Given the description of an element on the screen output the (x, y) to click on. 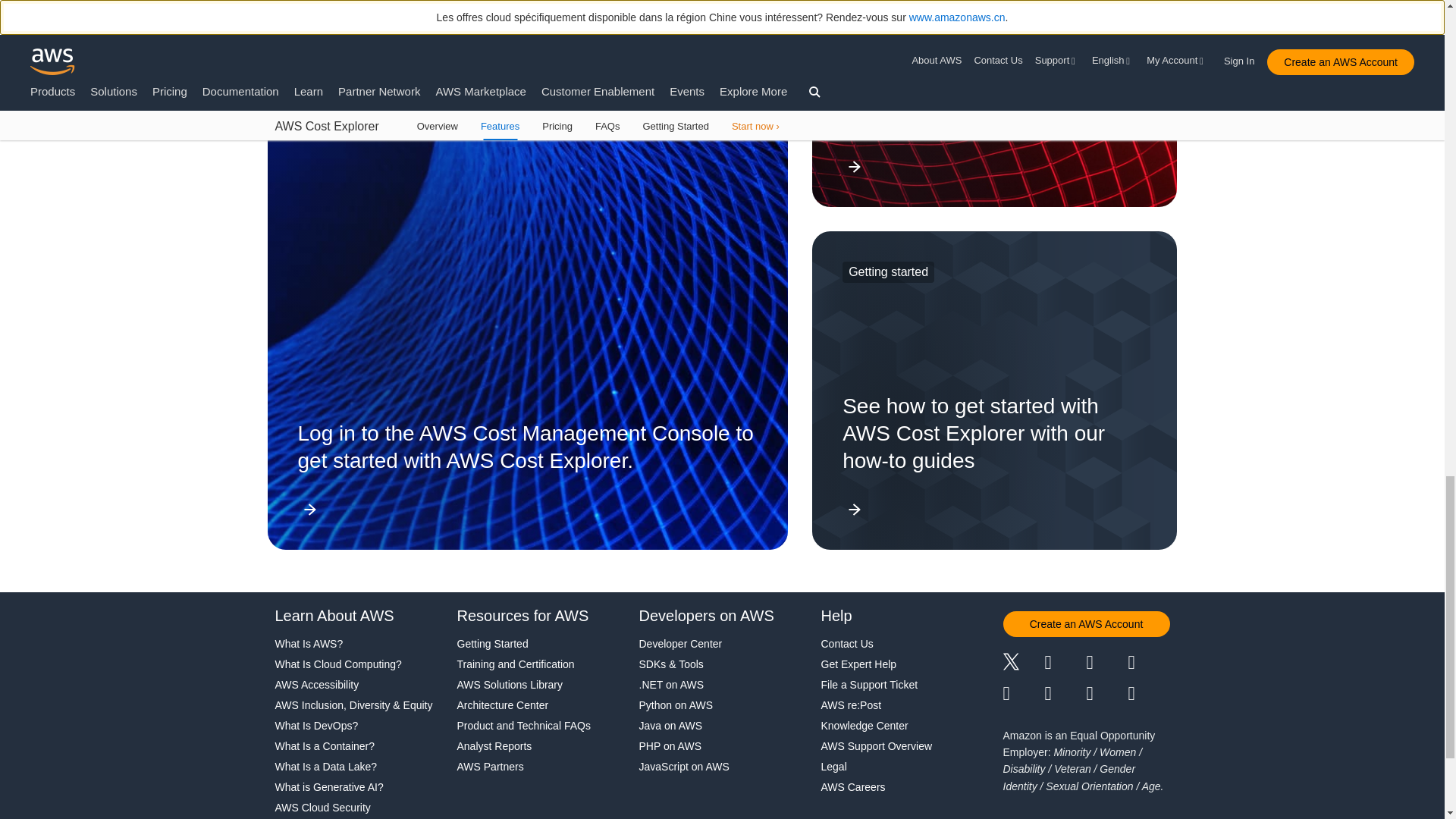
Instagram (1149, 663)
Linkedin (1106, 663)
Twitch (1023, 693)
Facebook (1065, 663)
Podcast (1106, 693)
Twitter (1023, 663)
YouTube (1065, 693)
